Given the description of an element on the screen output the (x, y) to click on. 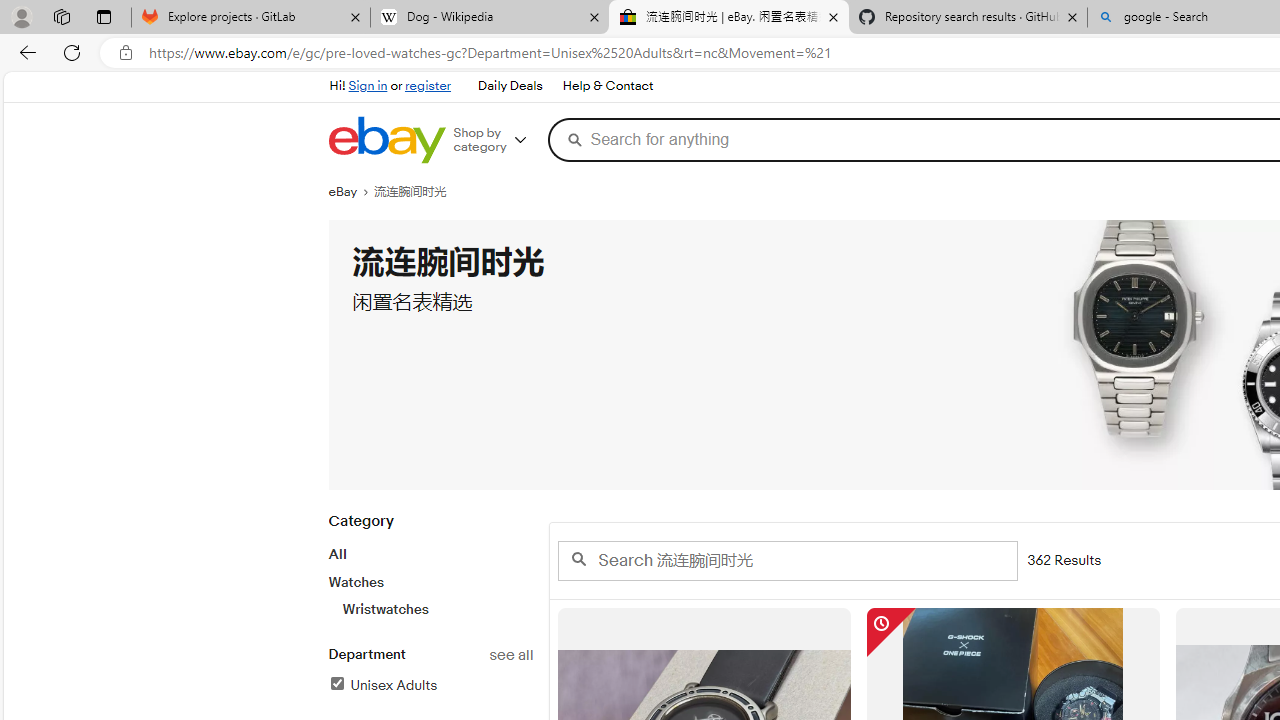
Personal Profile (21, 16)
See all department refinements (510, 655)
